Given the description of an element on the screen output the (x, y) to click on. 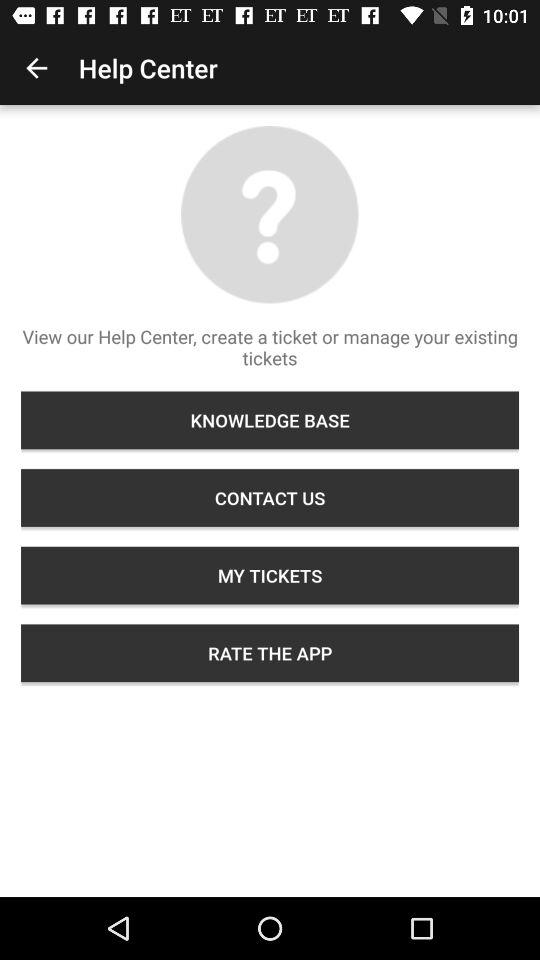
choose the icon below the contact us (270, 575)
